Given the description of an element on the screen output the (x, y) to click on. 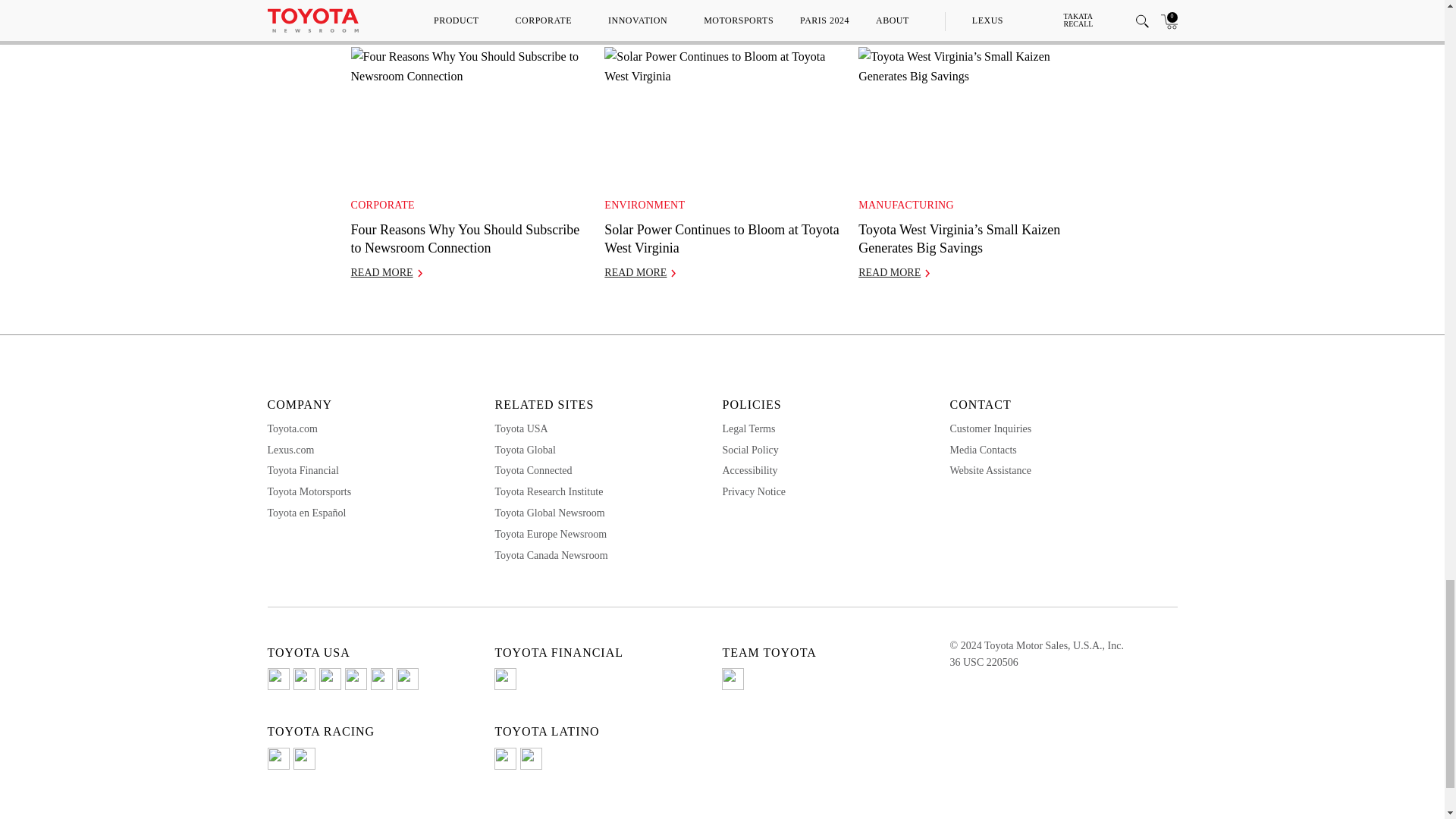
Environment (644, 204)
Manufacturing (906, 204)
Corporate (381, 204)
